Given the description of an element on the screen output the (x, y) to click on. 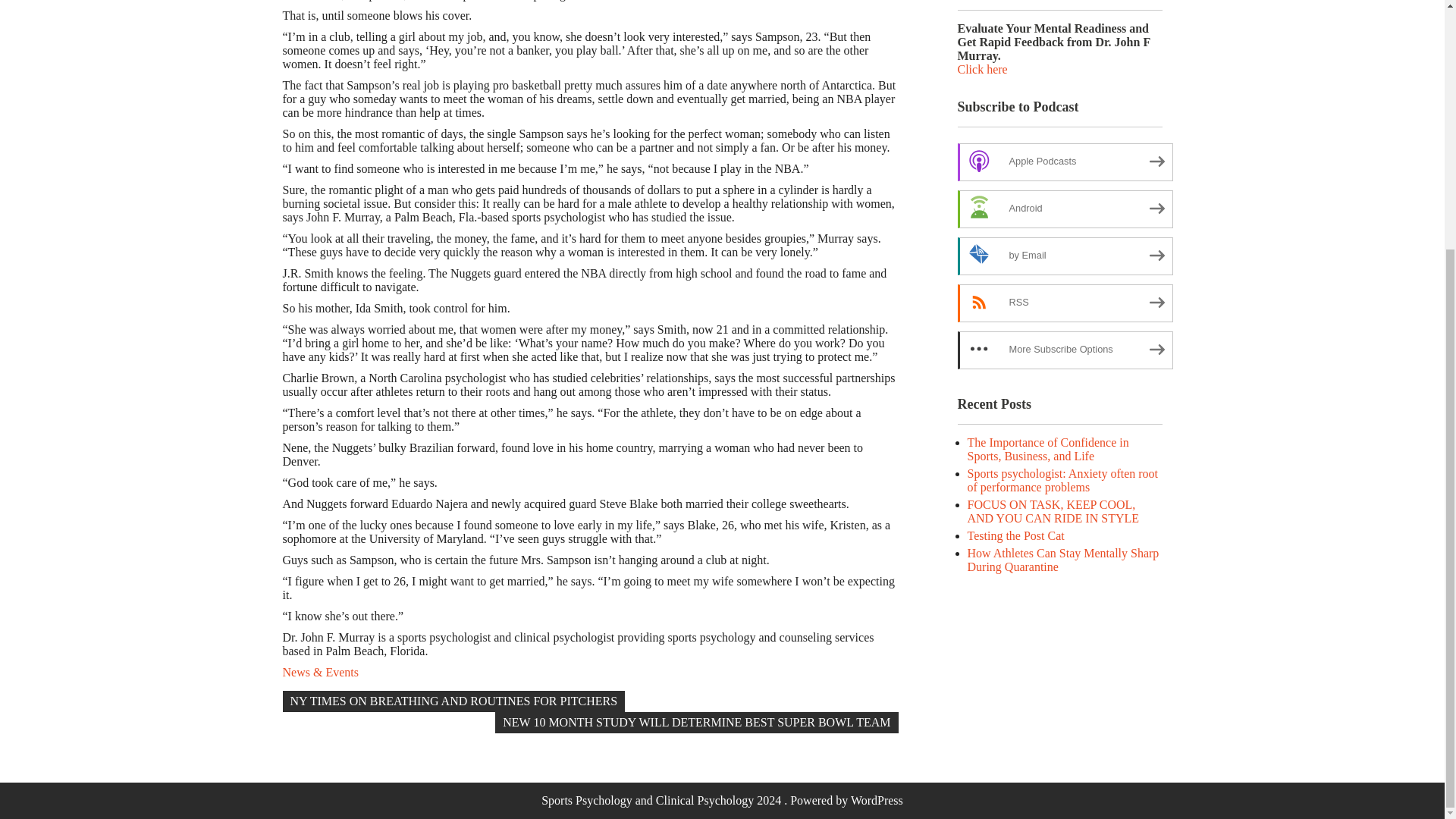
NY TIMES ON BREATHING AND ROUTINES FOR PITCHERS (453, 701)
Android (1064, 209)
Apple Podcasts (1064, 161)
Subscribe via RSS (1064, 303)
More Subscribe Options (1064, 350)
Click here (981, 69)
by Email (1064, 256)
Subscribe on Android (1064, 209)
NEW 10 MONTH STUDY WILL DETERMINE BEST SUPER BOWL TEAM (696, 722)
Subscribe on Apple Podcasts (1064, 161)
Subscribe by Email (1064, 256)
